Given the description of an element on the screen output the (x, y) to click on. 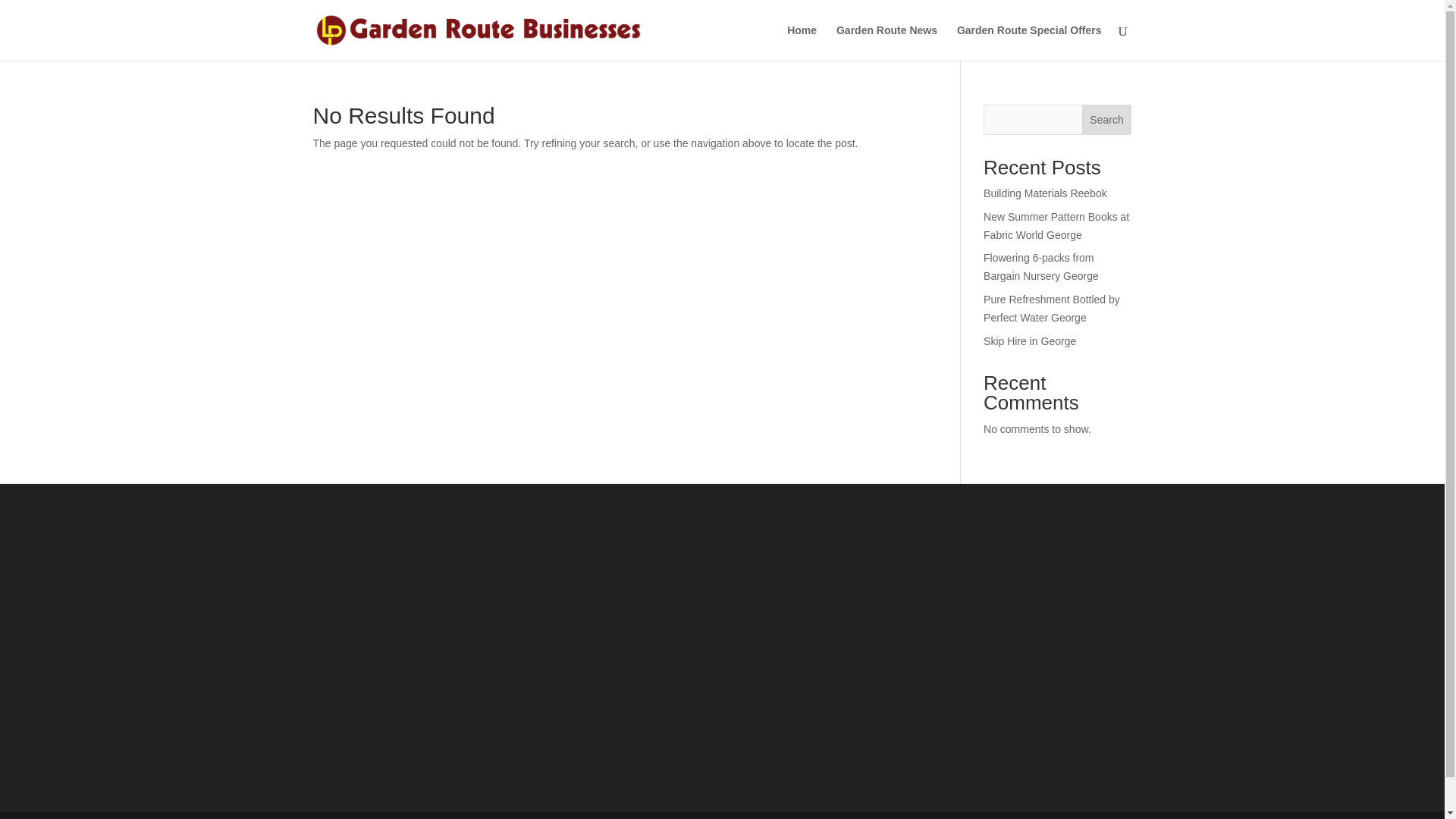
Flowering 6-packs from Bargain Nursery George (1041, 266)
New Summer Pattern Books at Fabric World George (1056, 225)
Skip Hire in George (1029, 340)
Search (1106, 119)
Pure Refreshment Bottled by Perfect Water George (1051, 308)
Building Materials Reebok (1045, 193)
Garden Route News (886, 42)
Garden Route Special Offers (1029, 42)
